Given the description of an element on the screen output the (x, y) to click on. 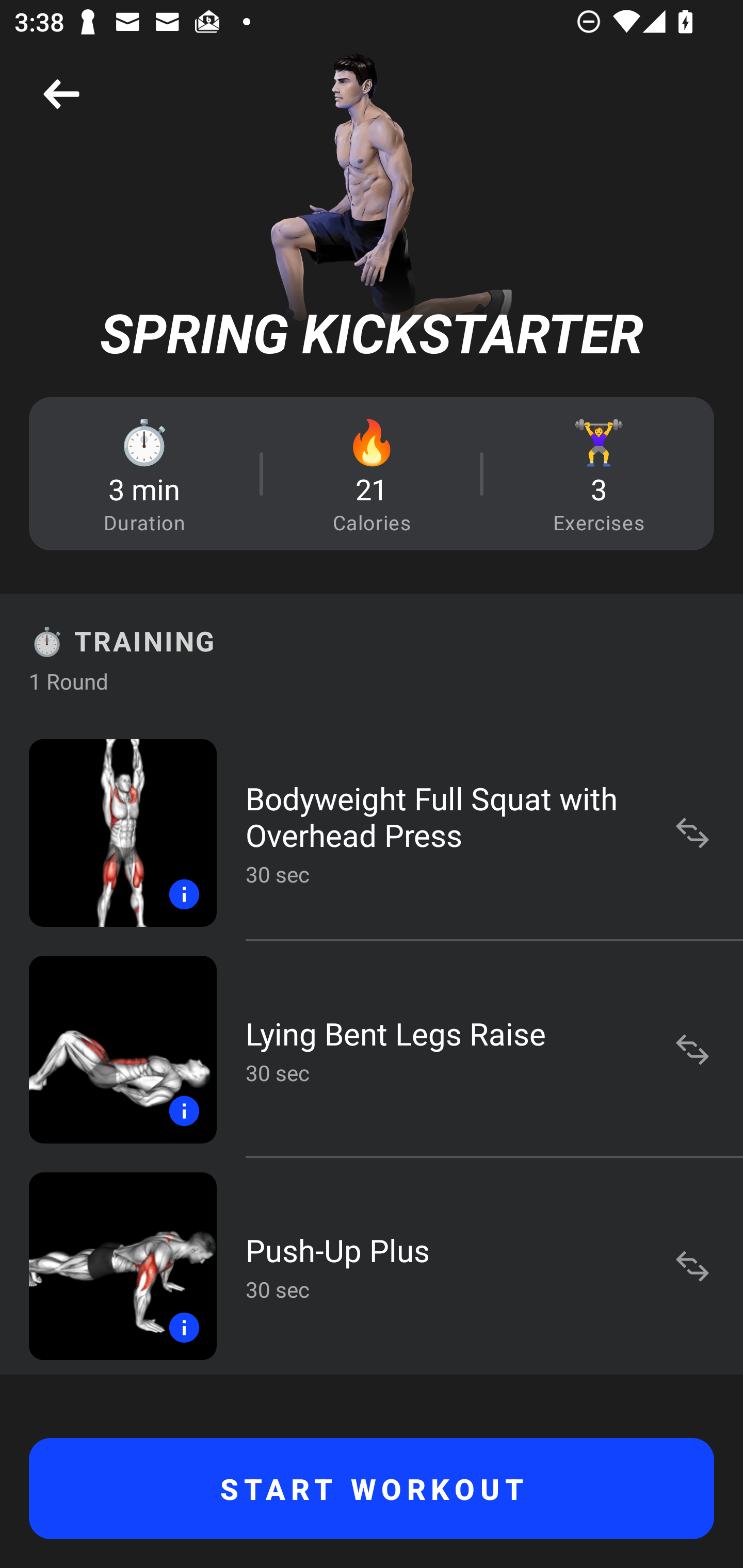
Bodyweight Full Squat with Overhead Press 30 sec (371, 832)
Lying Bent Legs Raise 30 sec (371, 1048)
Push-Up Plus 30 sec (371, 1266)
START WORKOUT (371, 1488)
